Given the description of an element on the screen output the (x, y) to click on. 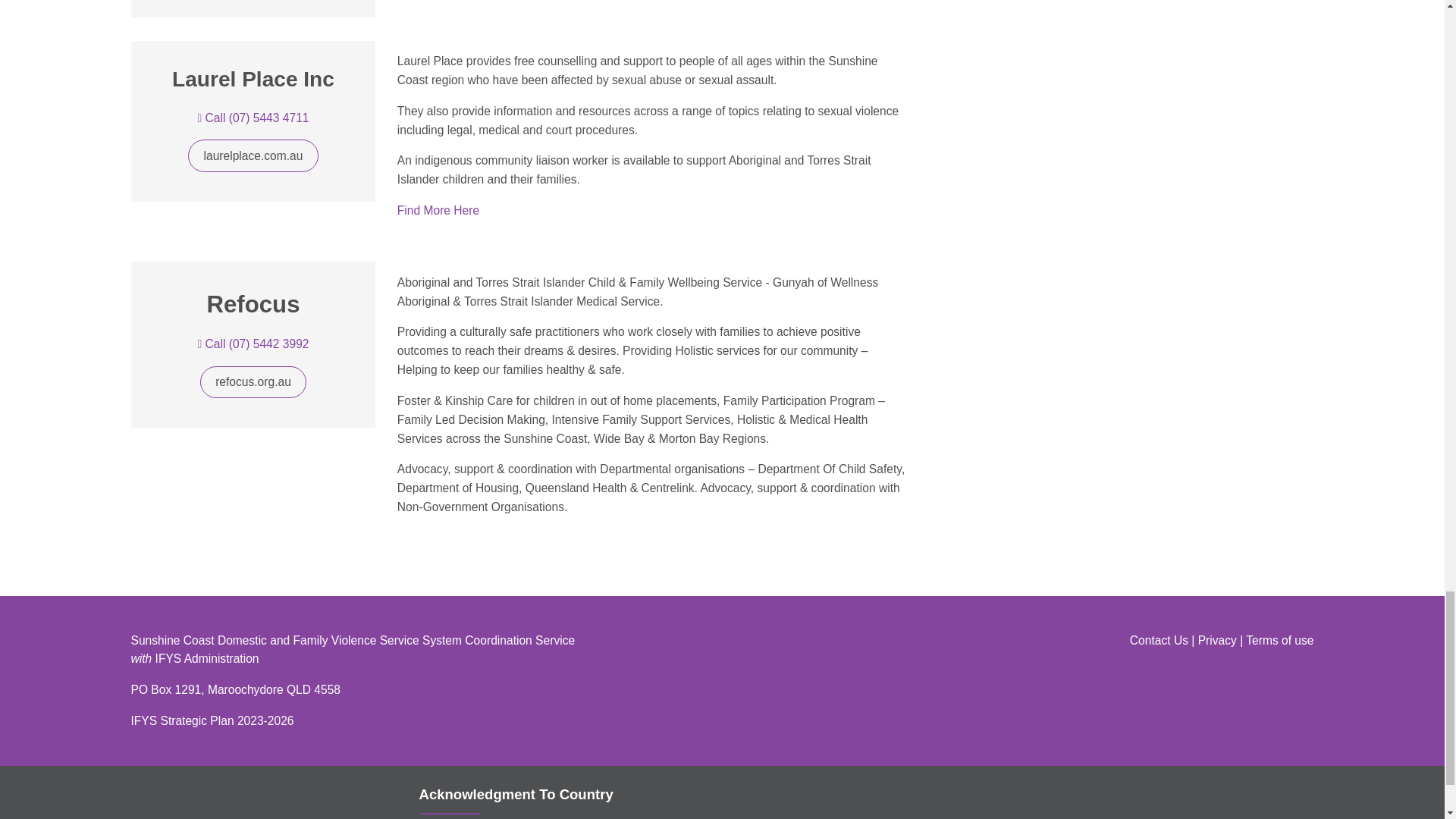
View our strategic plan (212, 720)
